Given the description of an element on the screen output the (x, y) to click on. 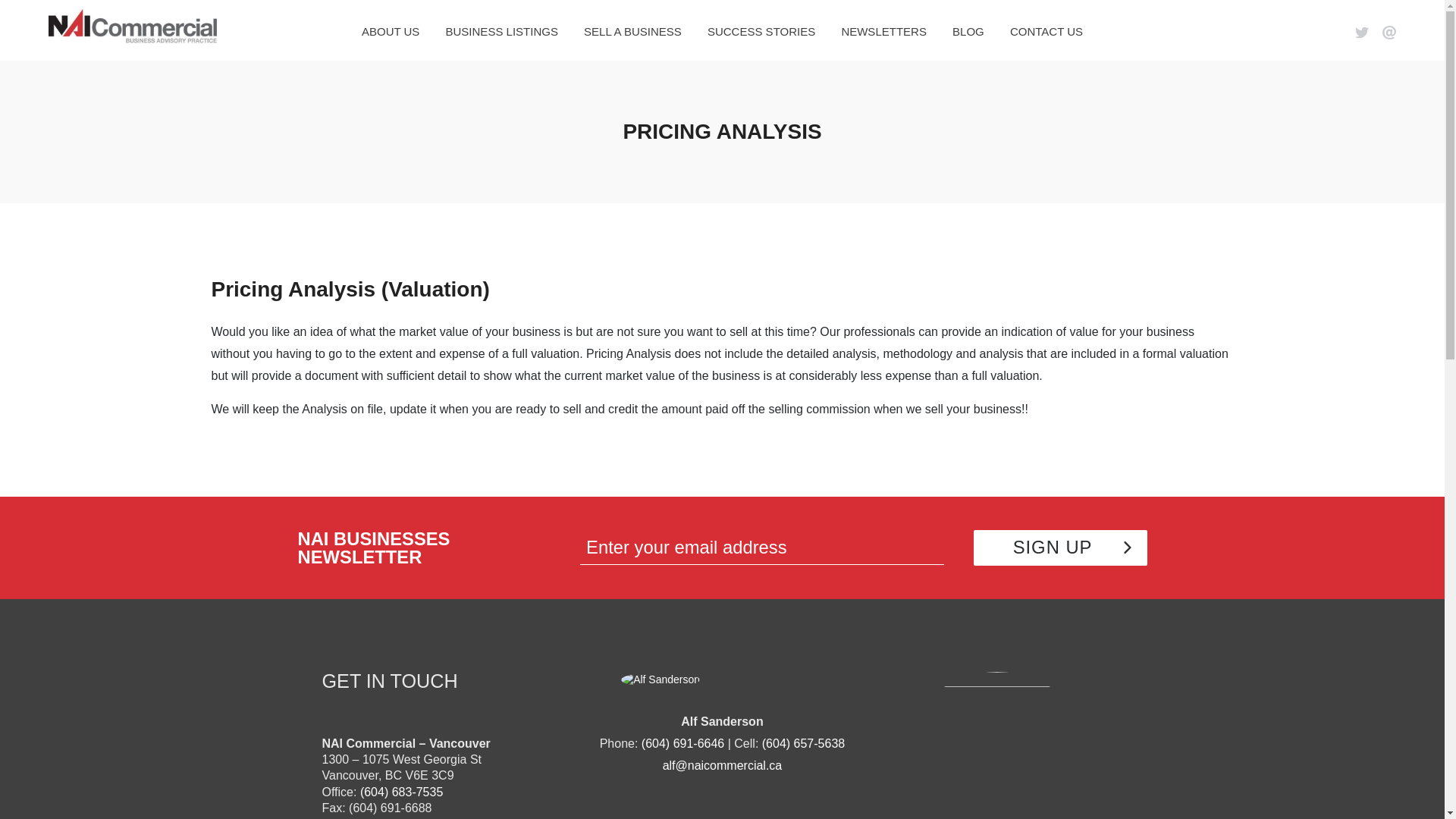
SIGN UP (1060, 547)
BLOG (967, 31)
SELL A BUSINESS (632, 31)
ABOUT US (390, 31)
SUCCESS STORIES (761, 31)
BUSINESS LISTINGS (501, 31)
CONTACT US (1046, 31)
NEWSLETTERS (883, 31)
